Given the description of an element on the screen output the (x, y) to click on. 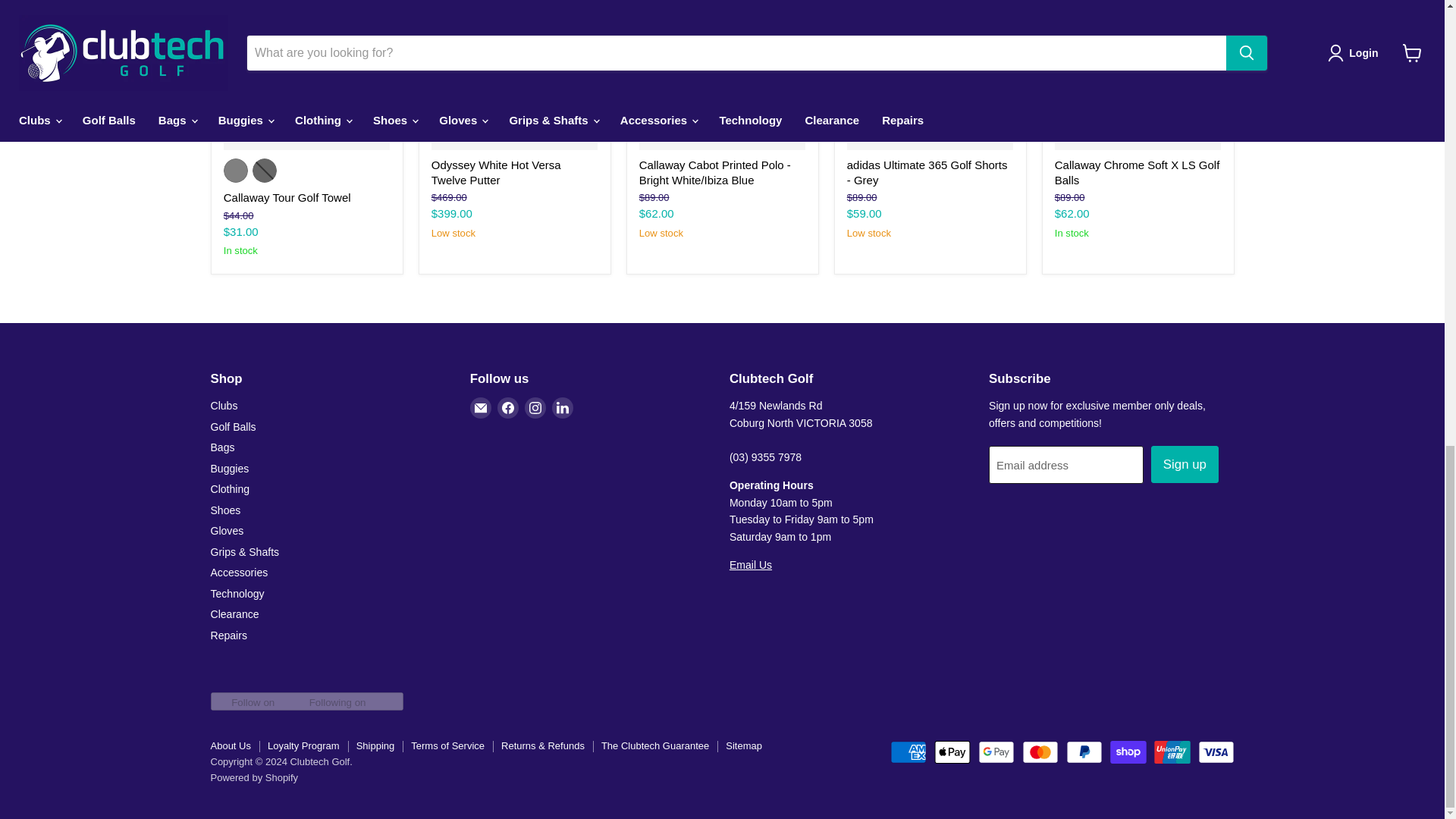
Facebook (507, 407)
Email (481, 407)
LinkedIn (562, 407)
Instagram (535, 407)
